Given the description of an element on the screen output the (x, y) to click on. 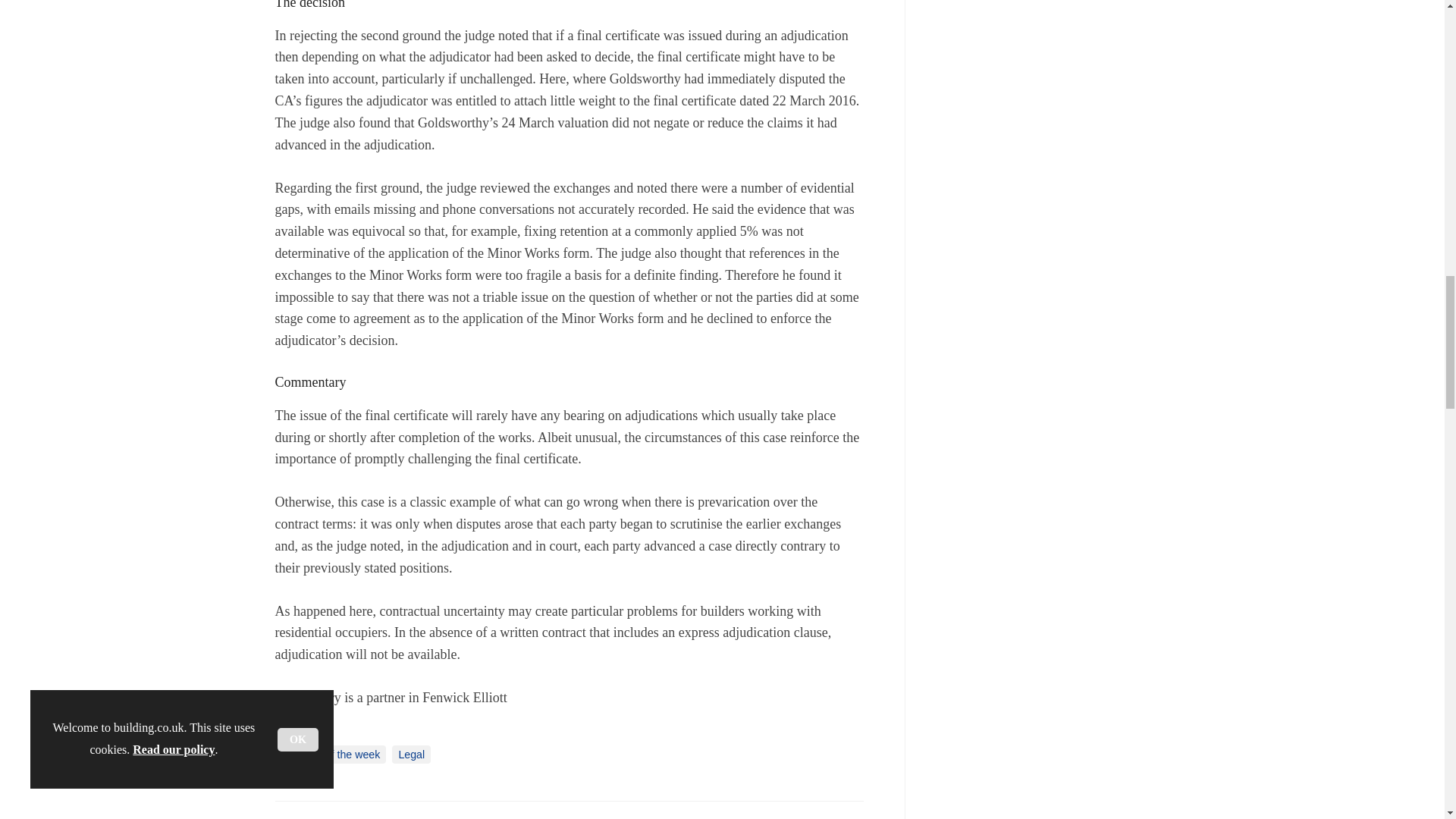
Email this article (386, 814)
Share this on Twitter (320, 814)
Share this on Linked in (352, 814)
Share this on Facebook (288, 814)
